Given the description of an element on the screen output the (x, y) to click on. 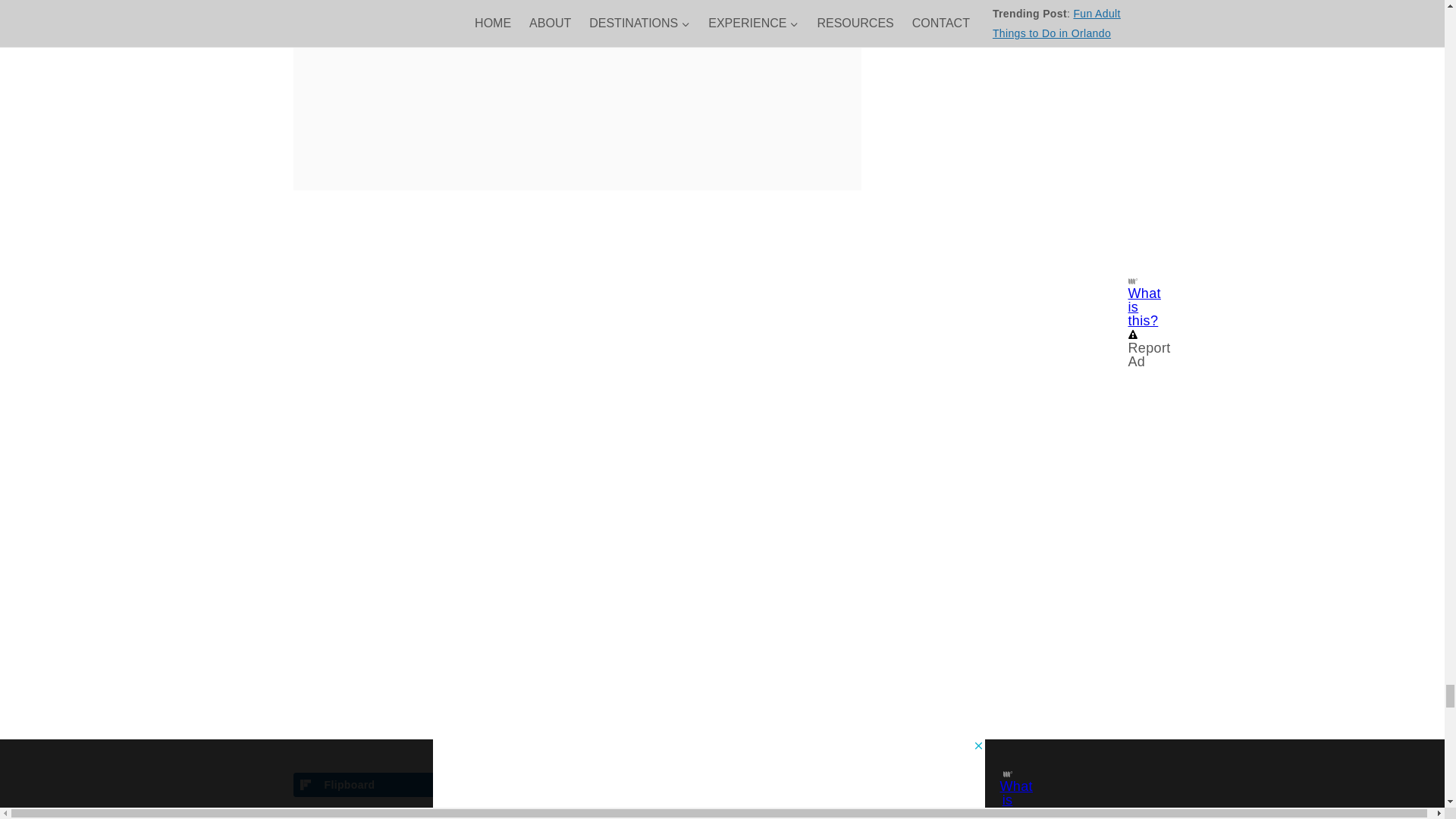
Share on Flipboard (431, 784)
Save to Pinterest (721, 784)
